Given the description of an element on the screen output the (x, y) to click on. 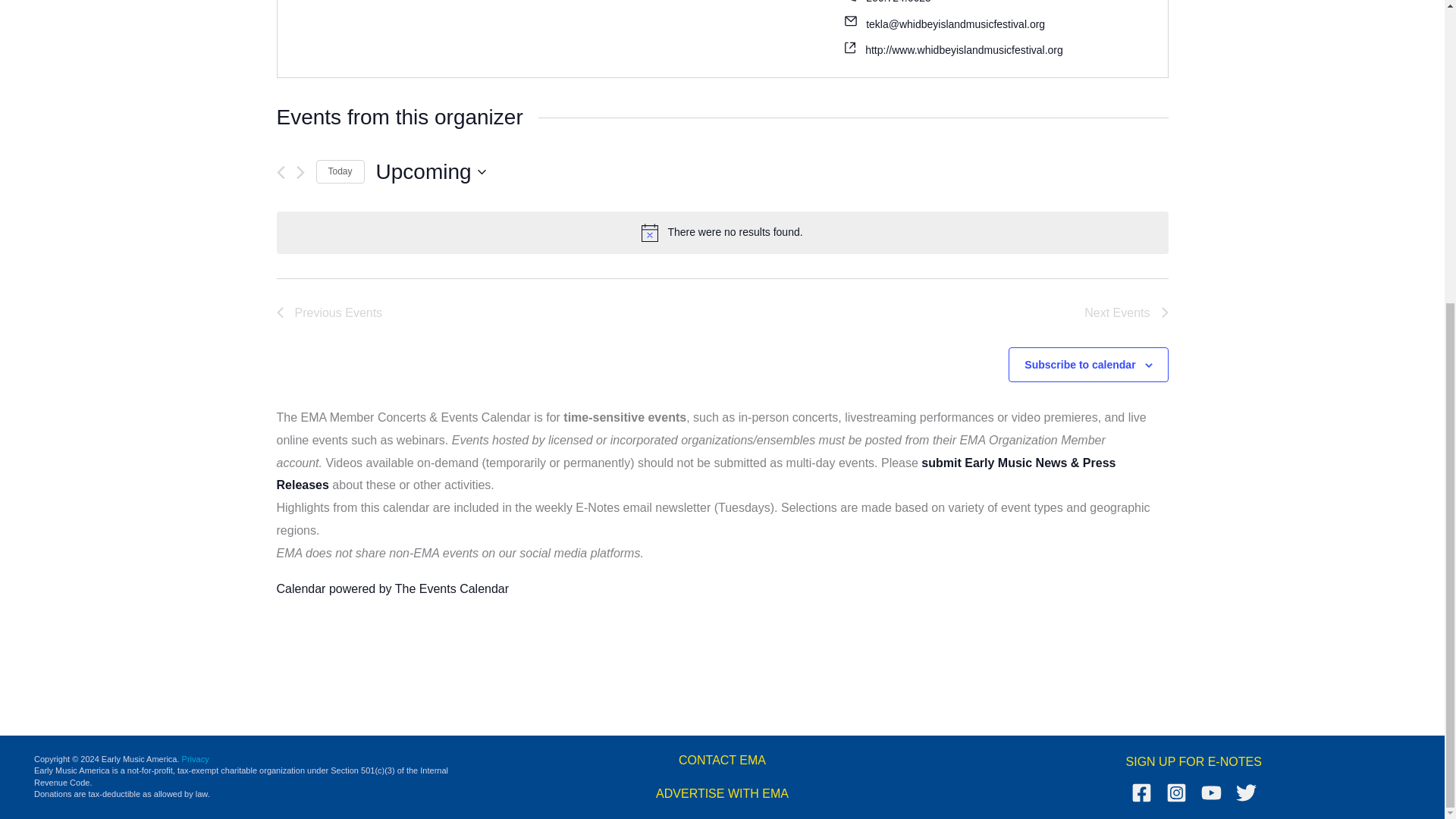
Previous Events (328, 312)
Click to toggle datepicker (430, 172)
Click to select today's date (339, 171)
Next Events (1125, 312)
